Given the description of an element on the screen output the (x, y) to click on. 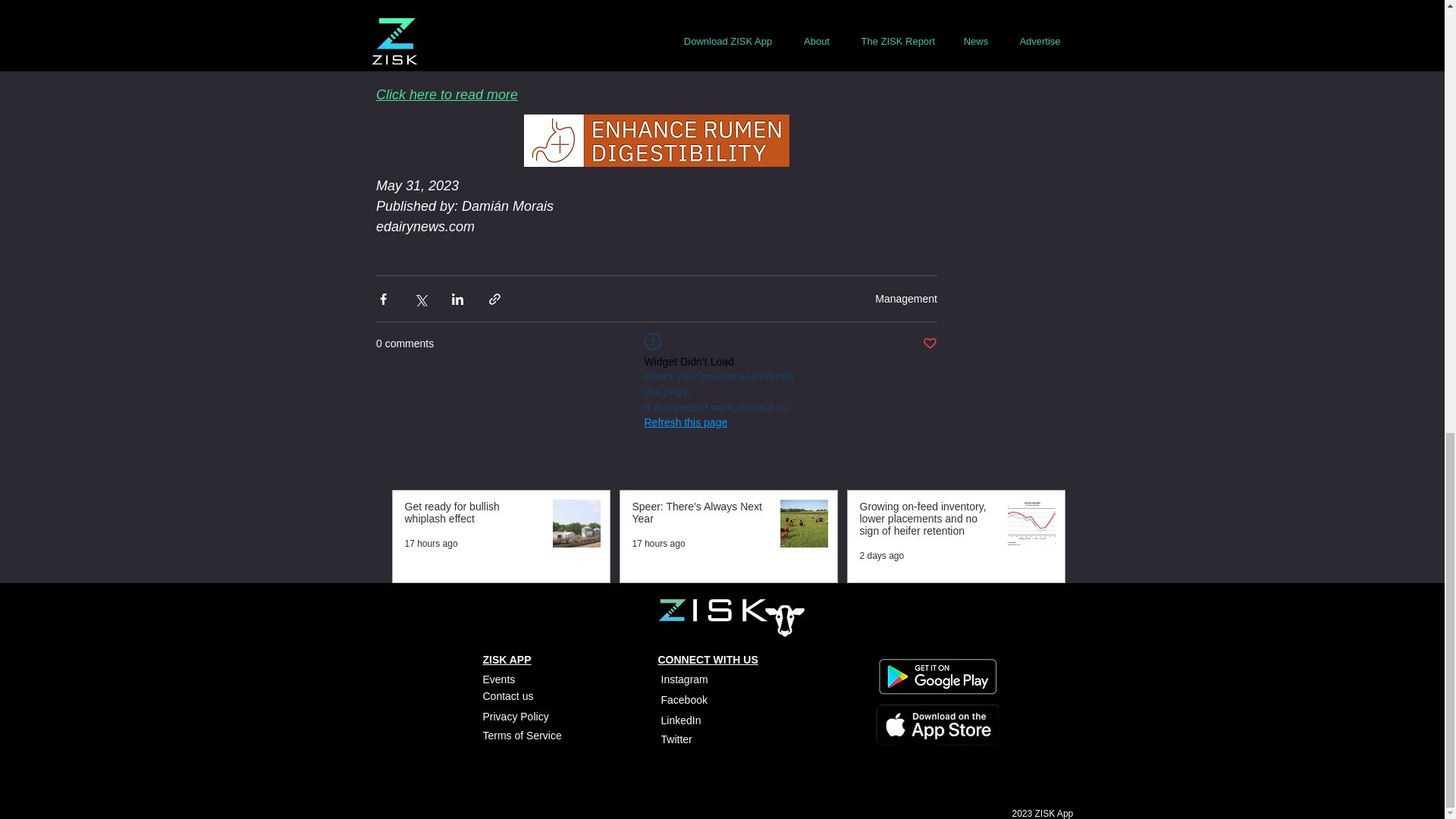
Facebook  (685, 699)
17 hours ago (658, 543)
Twitter (677, 739)
17 hours ago (431, 543)
Management (906, 297)
Refresh this page (686, 421)
Events (498, 679)
LinkedIn (681, 720)
Terms of Service (520, 735)
Instagram (684, 679)
2 days ago (882, 555)
Click here to read more (446, 94)
Contact us (506, 695)
Privacy Policy (514, 716)
